Given the description of an element on the screen output the (x, y) to click on. 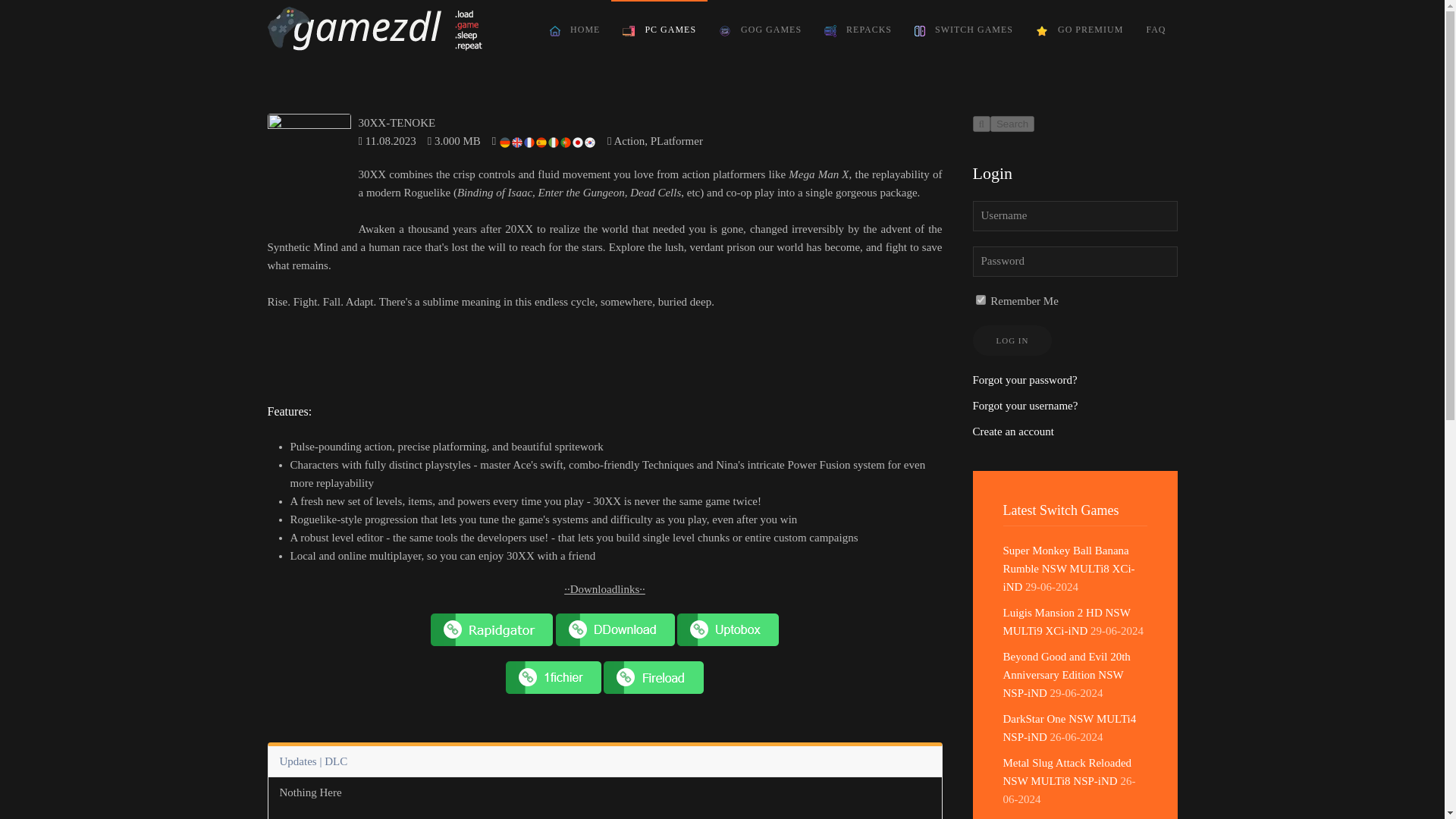
Create an account (1012, 431)
LOG IN (1011, 340)
REPACKS (857, 30)
yes (980, 299)
GO PREMIUM (1079, 30)
Search (1011, 123)
HOME (574, 30)
SWITCH GAMES (963, 30)
PC GAMES (659, 30)
Forgot your password? (1024, 379)
GOG GAMES (759, 30)
Forgot your username? (1024, 405)
